Given the description of an element on the screen output the (x, y) to click on. 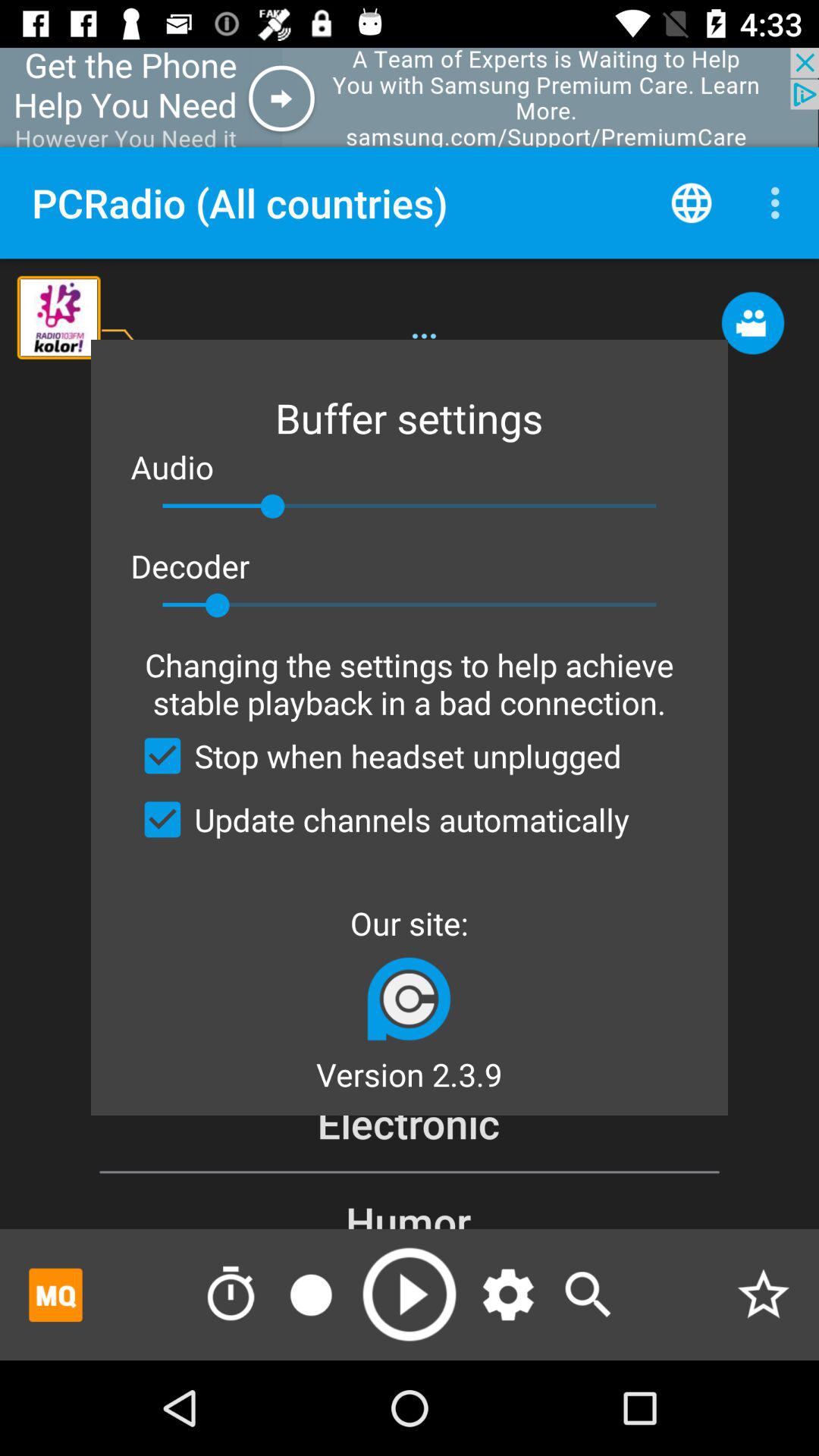
turn off app above our site: (379, 819)
